Given the description of an element on the screen output the (x, y) to click on. 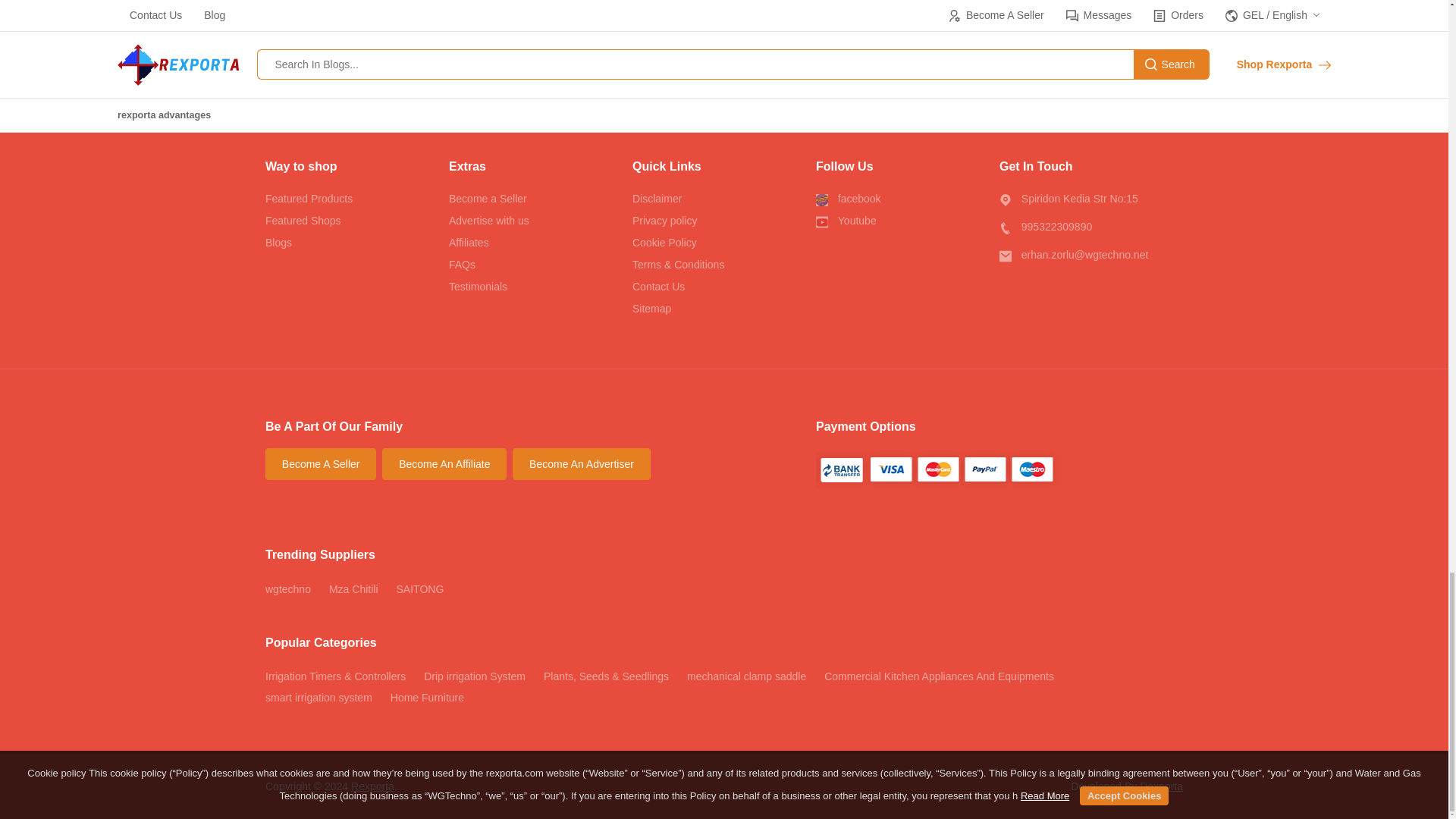
Youtube (906, 220)
Subscribe (880, 40)
facebook (906, 198)
